Given the description of an element on the screen output the (x, y) to click on. 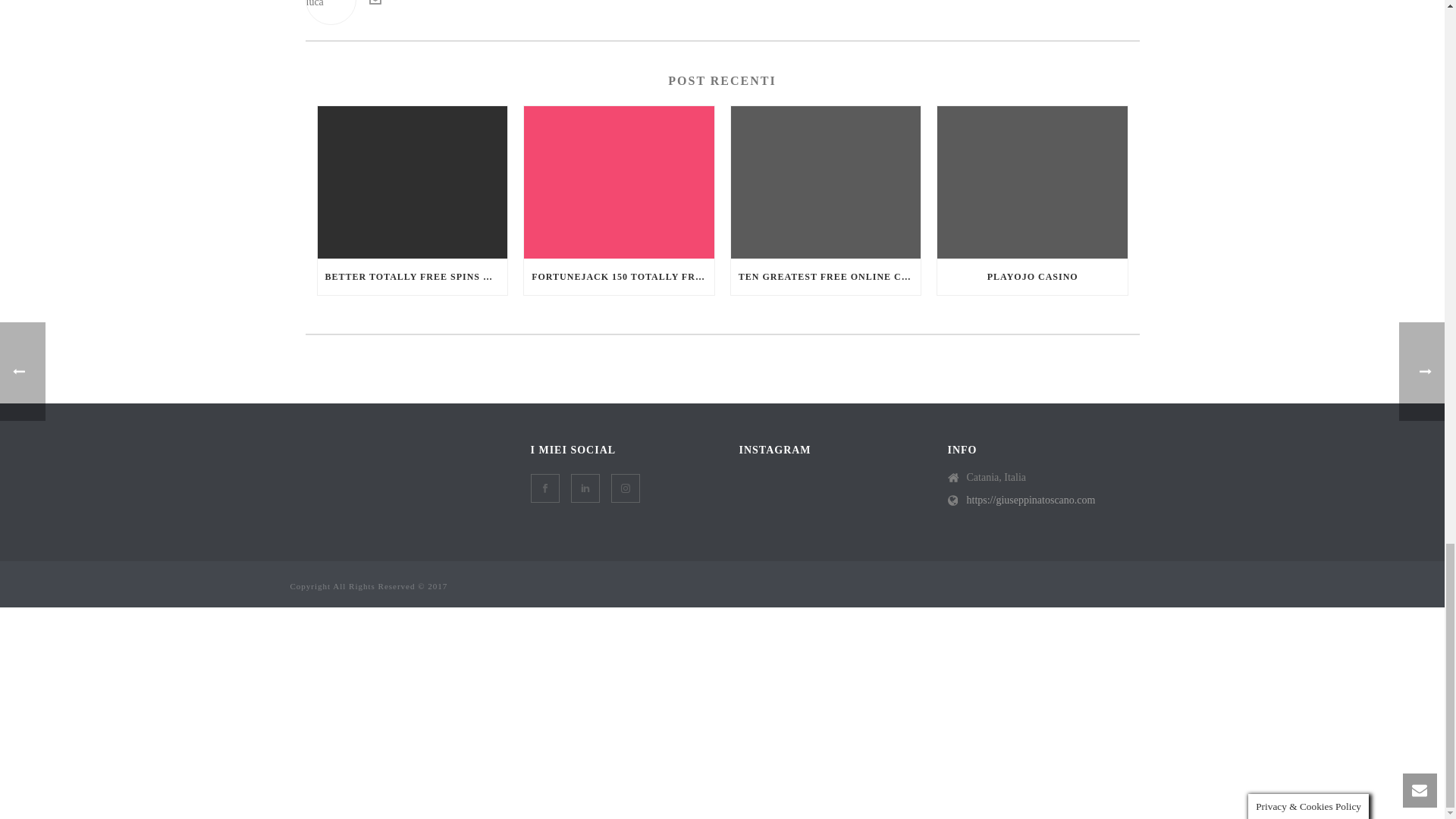
Playojo Casino (1031, 182)
FORTUNEJACK 150 TOTALLY FREE REVOLVES (619, 276)
Seguimi su linkedin (584, 488)
Better Totally free Spins Gambling enterprises 2024 (411, 182)
ten Greatest Free Online casino games To possess Android os (825, 182)
PLAYOJO CASINO (1031, 276)
TEN GREATEST FREE ONLINE CASINO GAMES TO POSSESS ANDROID OS (825, 276)
Fortunejack 150 Totally free Revolves (619, 182)
BETTER TOTALLY FREE SPINS GAMBLING ENTERPRISES 2024 (411, 276)
Seguimi su instagram (625, 488)
Seguimi su facebook (545, 488)
Entra in contatto com noi via em-mail (374, 4)
